Given the description of an element on the screen output the (x, y) to click on. 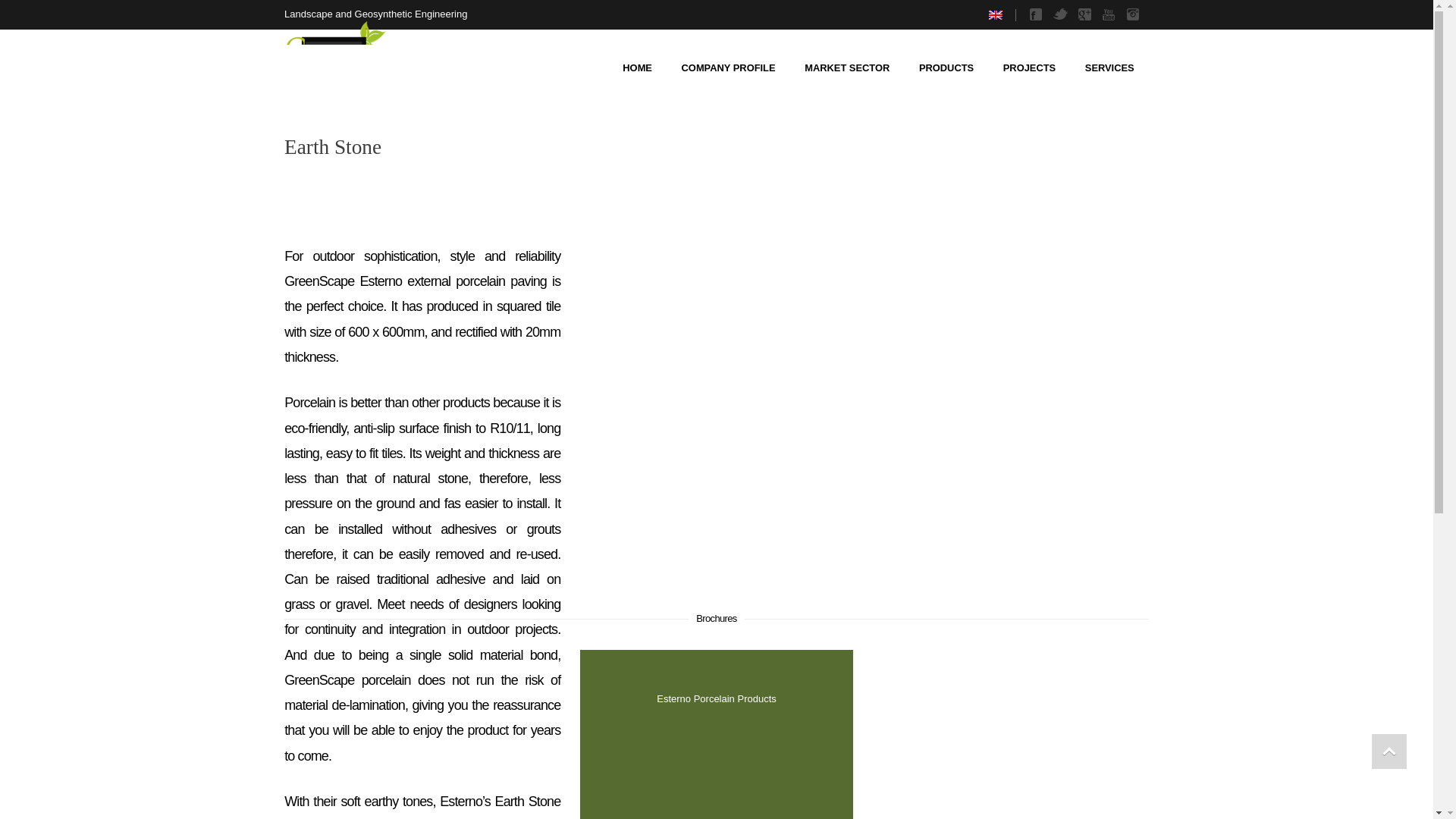
COMPANY PROFILE (728, 68)
PRODUCTS (946, 68)
MARKET SECTOR (847, 68)
SERVICES (1109, 68)
PROJECTS (1029, 68)
